Given the description of an element on the screen output the (x, y) to click on. 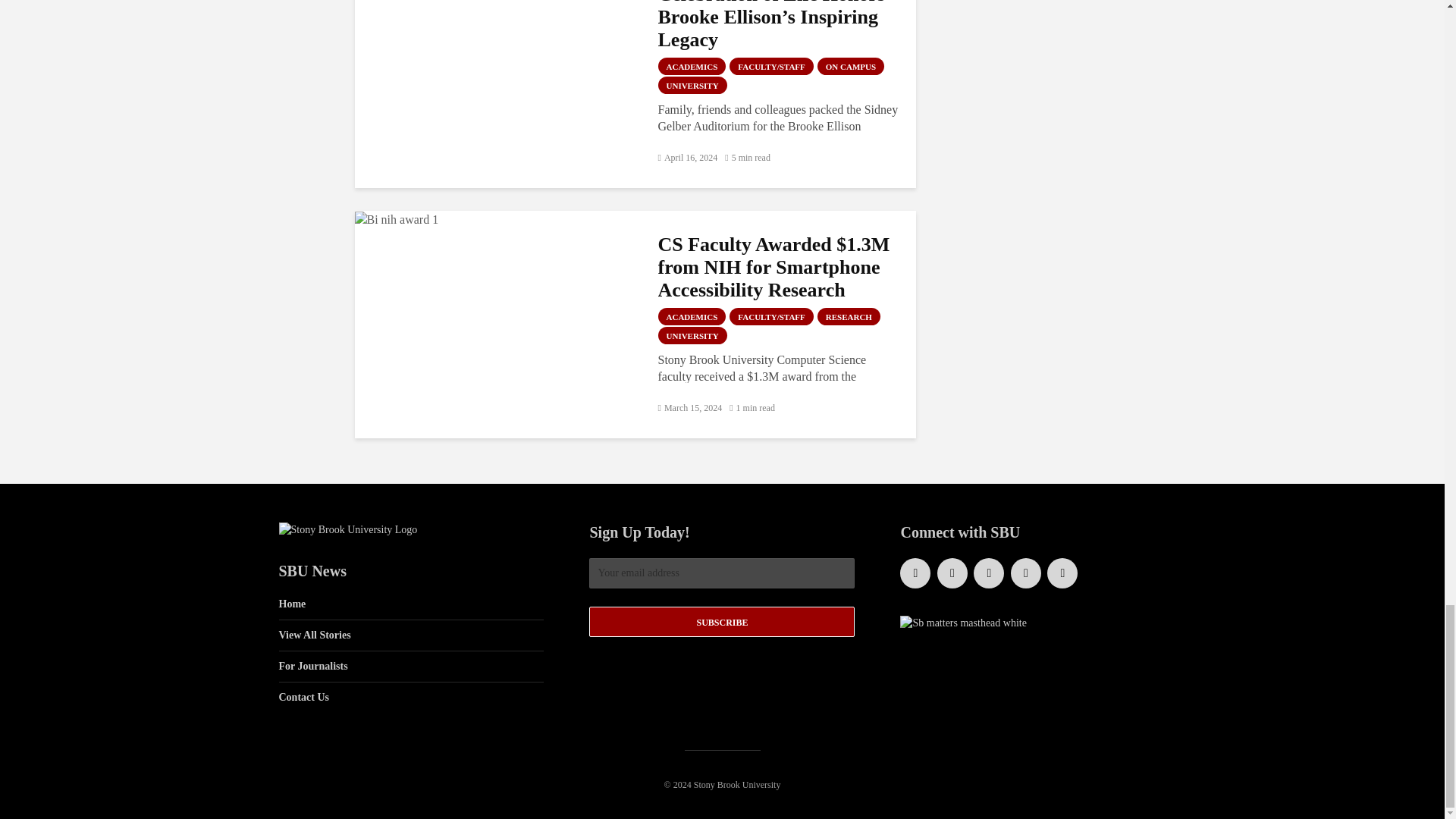
Subscribe (721, 621)
